Given the description of an element on the screen output the (x, y) to click on. 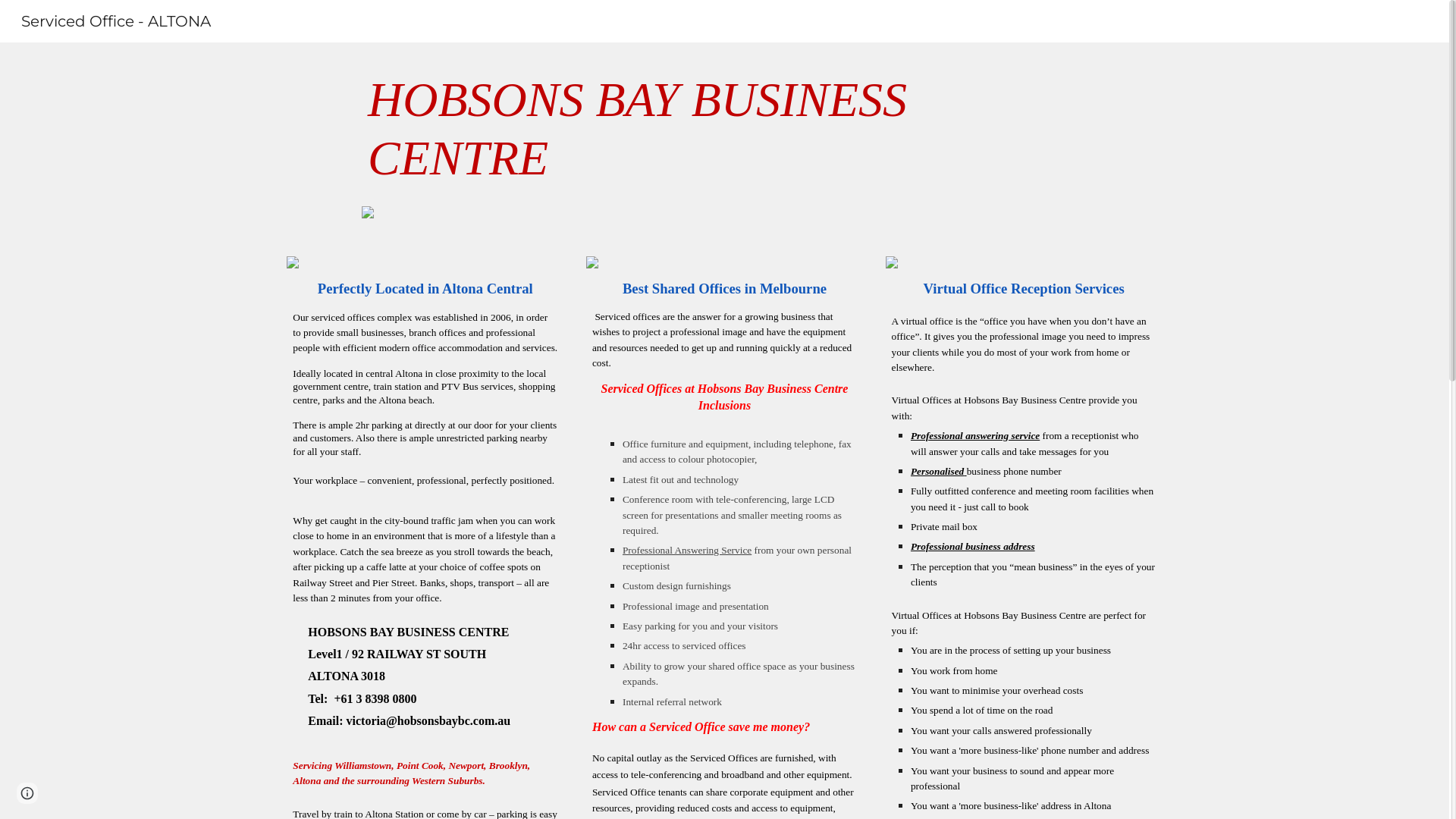
Professional Answering Service Element type: text (686, 549)
Serviced Office - ALTONA Element type: text (115, 19)
